Given the description of an element on the screen output the (x, y) to click on. 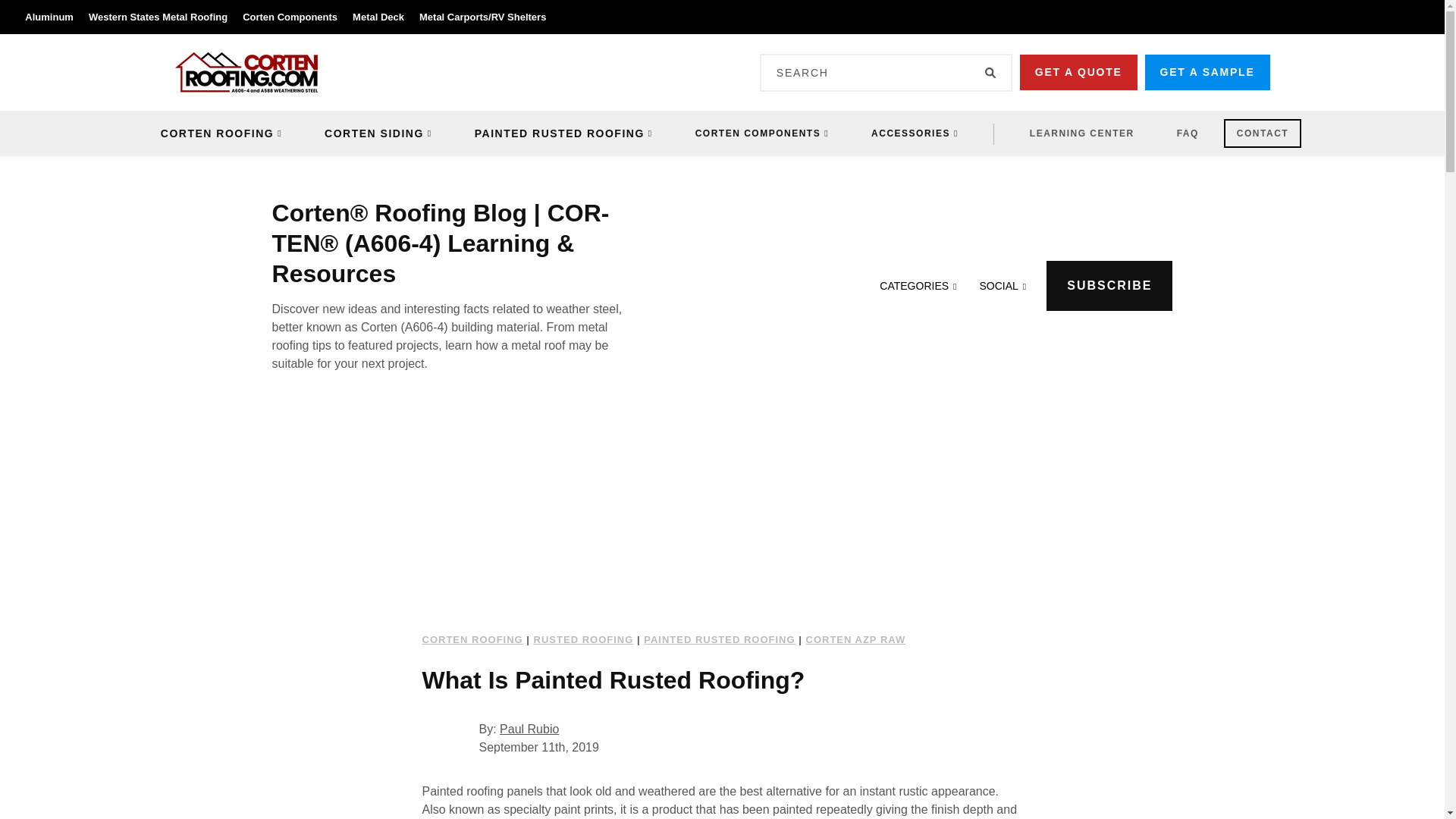
Western States Metal Roofing (157, 17)
Aluminum (52, 17)
CORTEN SIDING (378, 133)
What Is Painted Rusted Roofing? (722, 525)
GET A SAMPLE (1206, 72)
GET A QUOTE (1078, 72)
Corten Components (289, 17)
Metal Deck (378, 17)
Paul Rubio (446, 738)
CORTEN ROOFING (221, 133)
